Given the description of an element on the screen output the (x, y) to click on. 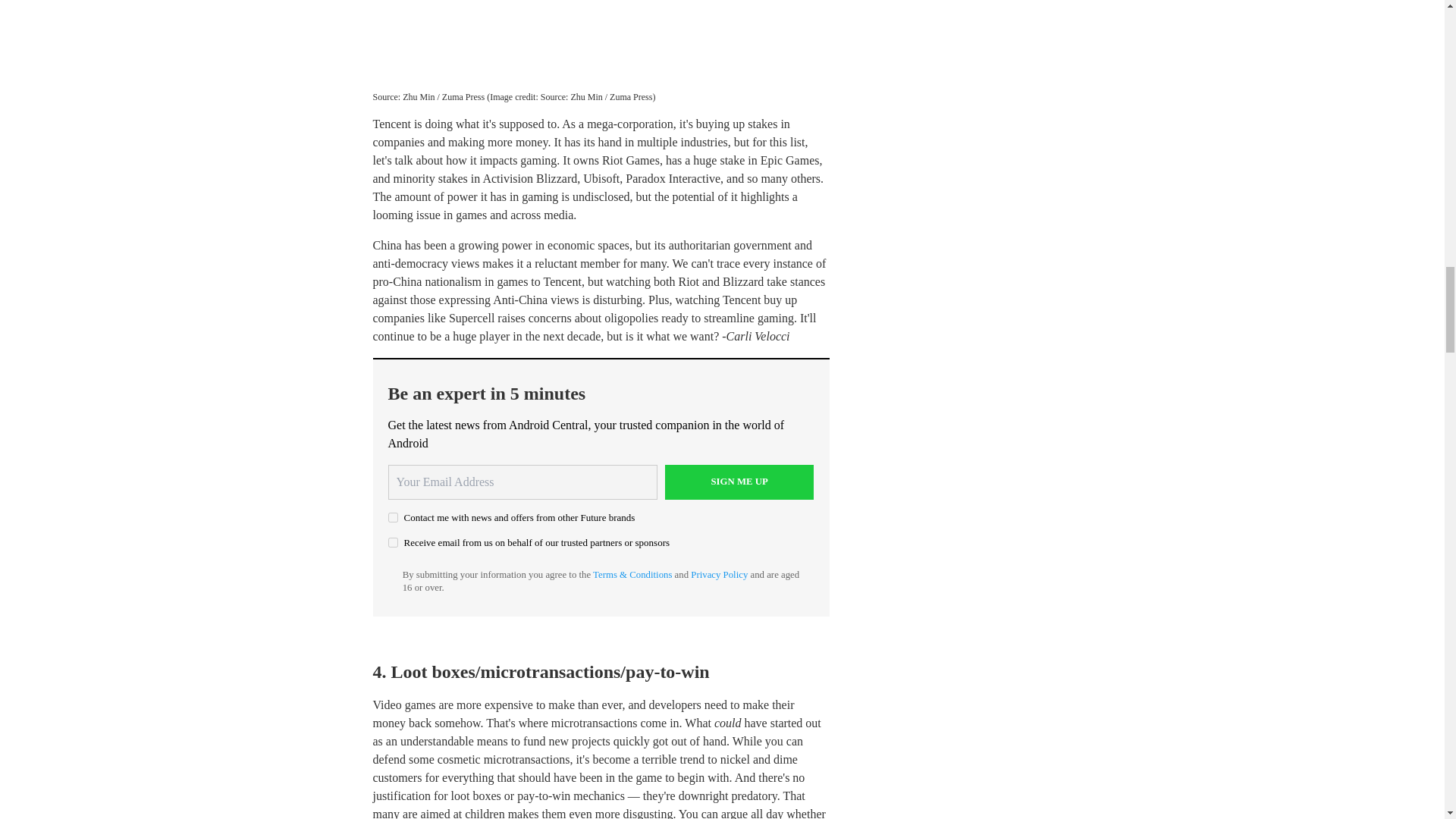
on (392, 542)
on (392, 517)
Sign me up (739, 482)
